Given the description of an element on the screen output the (x, y) to click on. 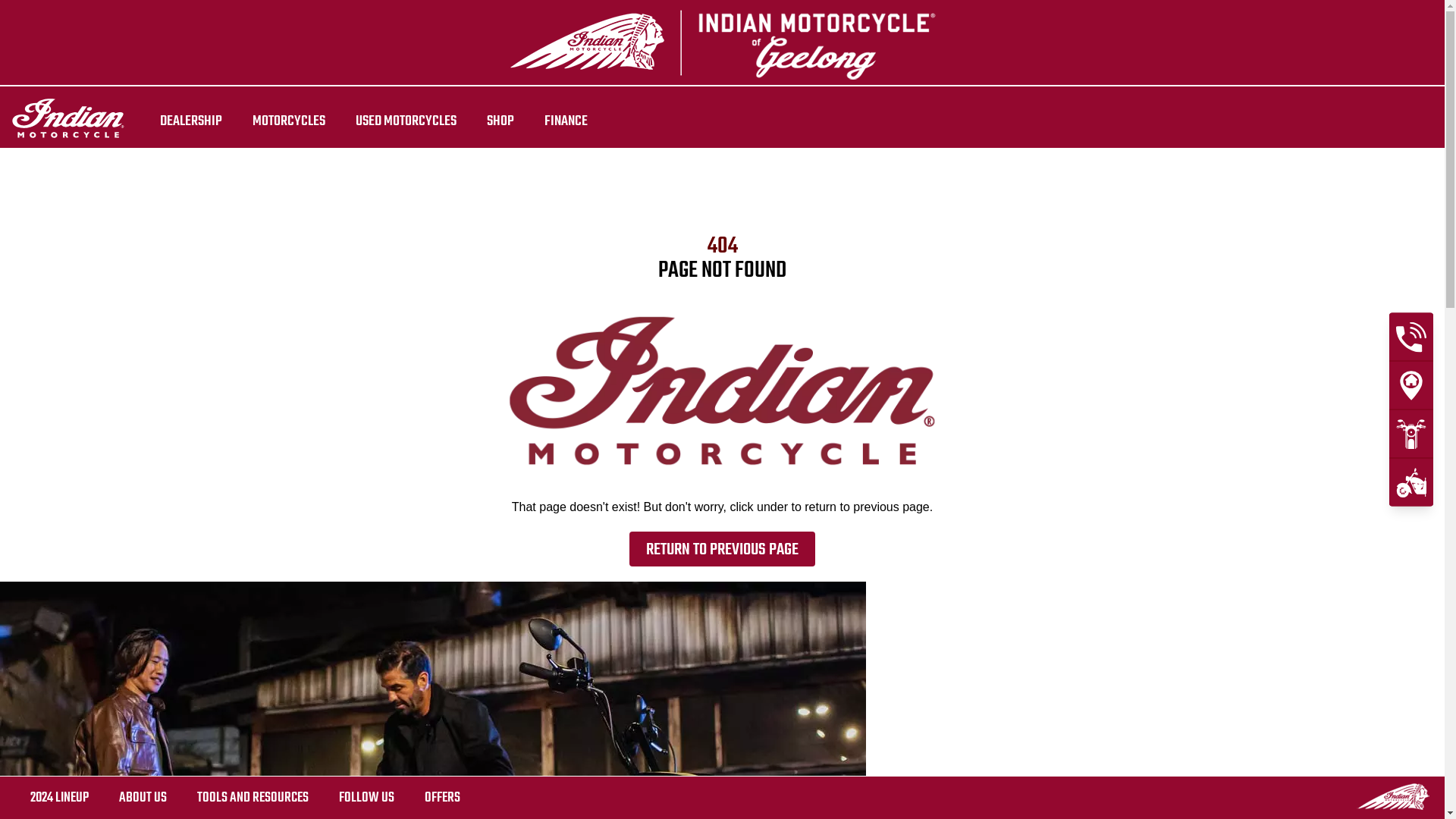
SHOP Element type: text (500, 121)
RETURN TO PREVIOUS PAGE Element type: text (722, 548)
FOLLOW US Element type: text (366, 797)
Indian Motorcycle Element type: hover (1392, 795)
MOTORCYCLES Element type: text (288, 121)
2024 LINEUP Element type: text (59, 797)
OFFERS Element type: text (442, 797)
USED MOTORCYCLES Element type: text (405, 121)
TOOLS AND RESOURCES Element type: text (252, 797)
ABOUT US Element type: text (142, 797)
FINANCE Element type: text (565, 121)
DEALERSHIP Element type: text (190, 121)
